Given the description of an element on the screen output the (x, y) to click on. 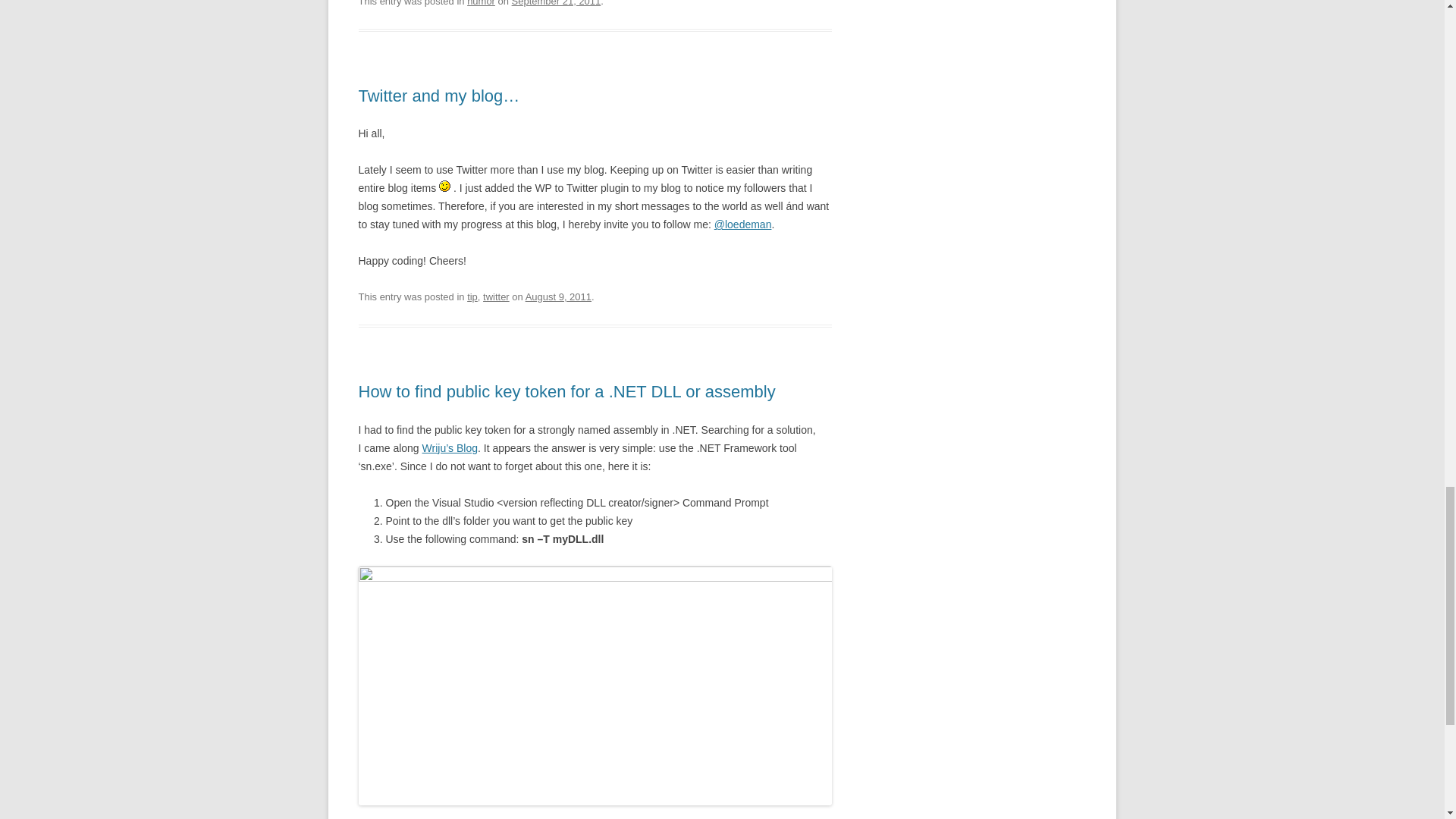
twitter (496, 296)
How to find public key token for a .NET DLL or assembly (566, 391)
tip (472, 296)
August 9, 2011 (558, 296)
humor (481, 3)
September 21, 2011 (556, 3)
